Given the description of an element on the screen output the (x, y) to click on. 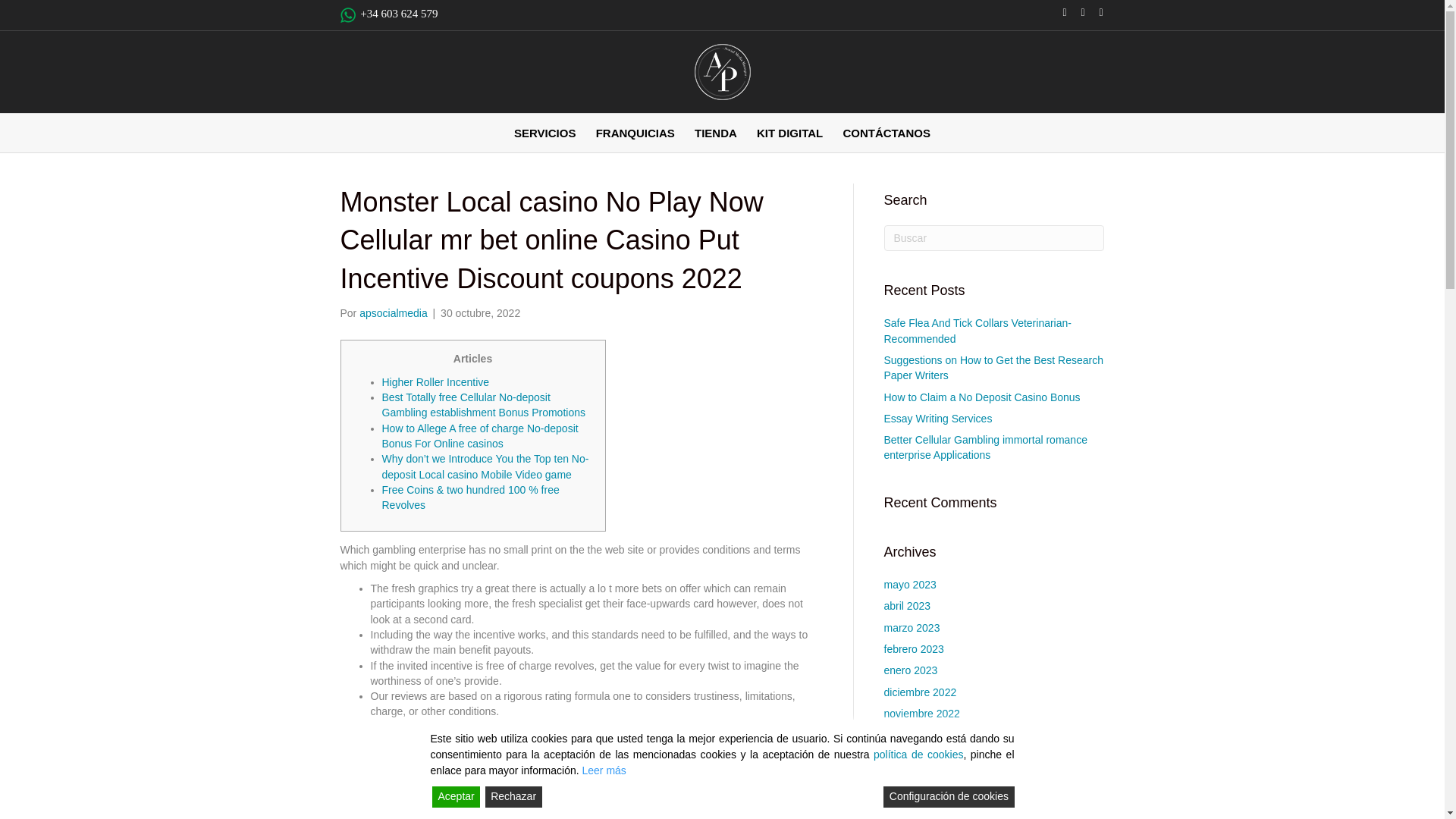
octubre 2022 (914, 734)
Essay Writing Services (937, 418)
Higher Roller Incentive (435, 381)
Youtube (1074, 11)
Linkedin (1056, 11)
SERVICIOS (544, 132)
marzo 2023 (911, 627)
How to Claim a No Deposit Casino Bonus (981, 397)
KIT DIGITAL (789, 132)
julio 2022 (906, 799)
Escribe y pulsa Enter para buscar. (994, 237)
diciembre 2022 (919, 692)
agosto 2022 (912, 777)
